Given the description of an element on the screen output the (x, y) to click on. 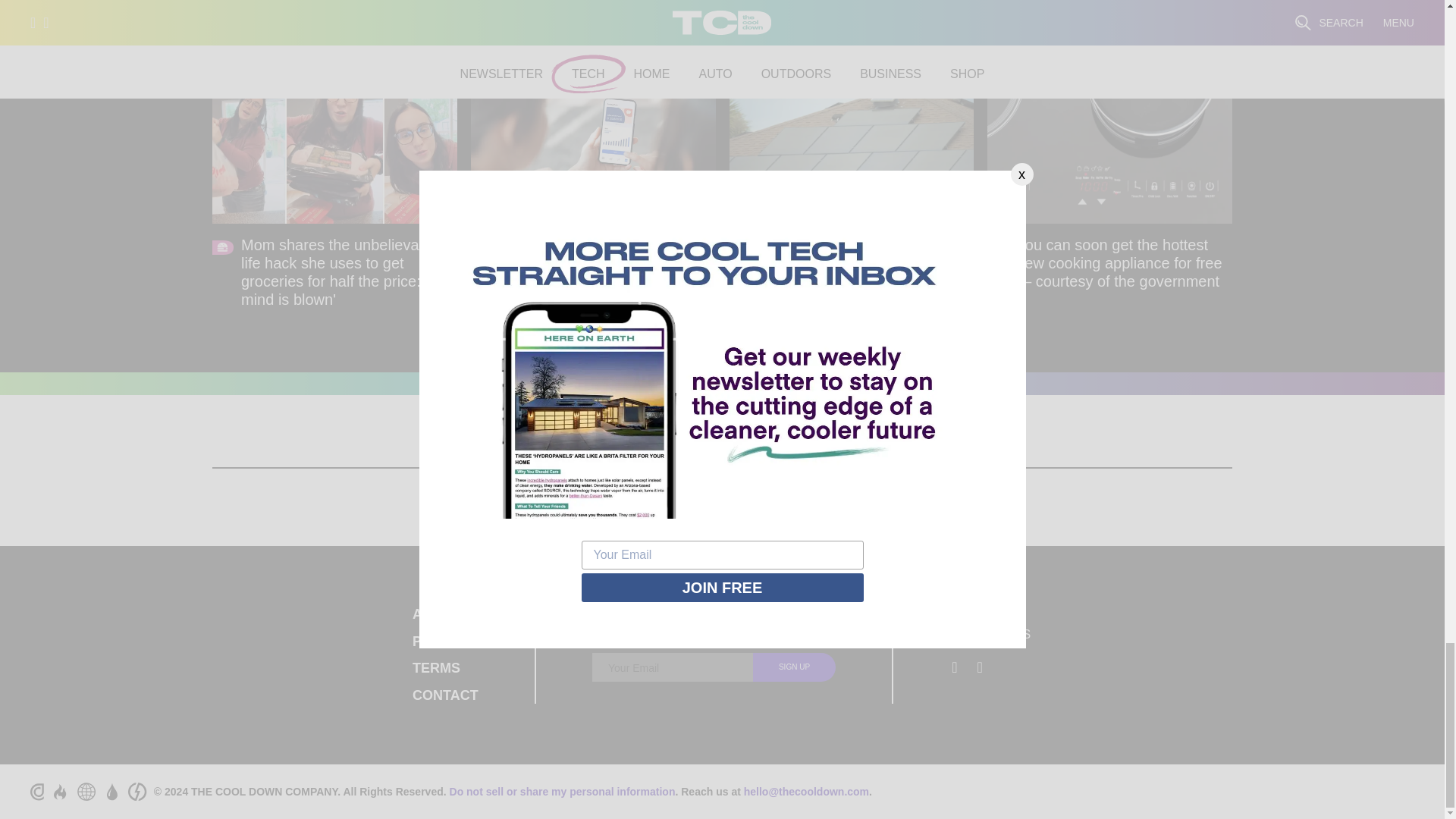
Sign Up (793, 666)
